Given the description of an element on the screen output the (x, y) to click on. 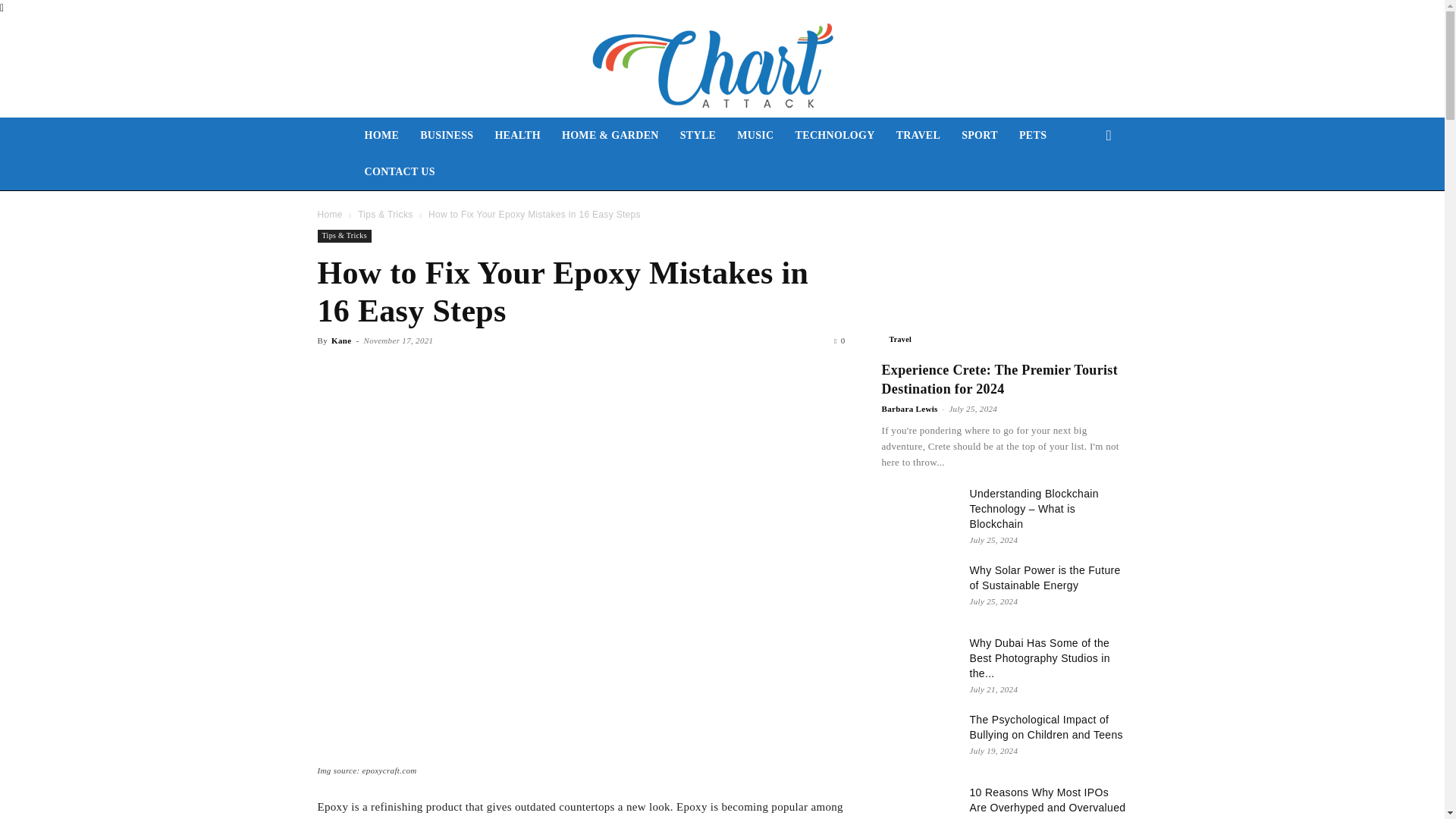
PETS (1033, 135)
HEALTH (517, 135)
TECHNOLOGY (834, 135)
Search (1085, 196)
Kane (340, 339)
HOME (381, 135)
0 (839, 339)
BUSINESS (446, 135)
CONTACT US (399, 171)
MUSIC (755, 135)
SPORT (979, 135)
STYLE (697, 135)
Home (329, 214)
TRAVEL (917, 135)
